Given the description of an element on the screen output the (x, y) to click on. 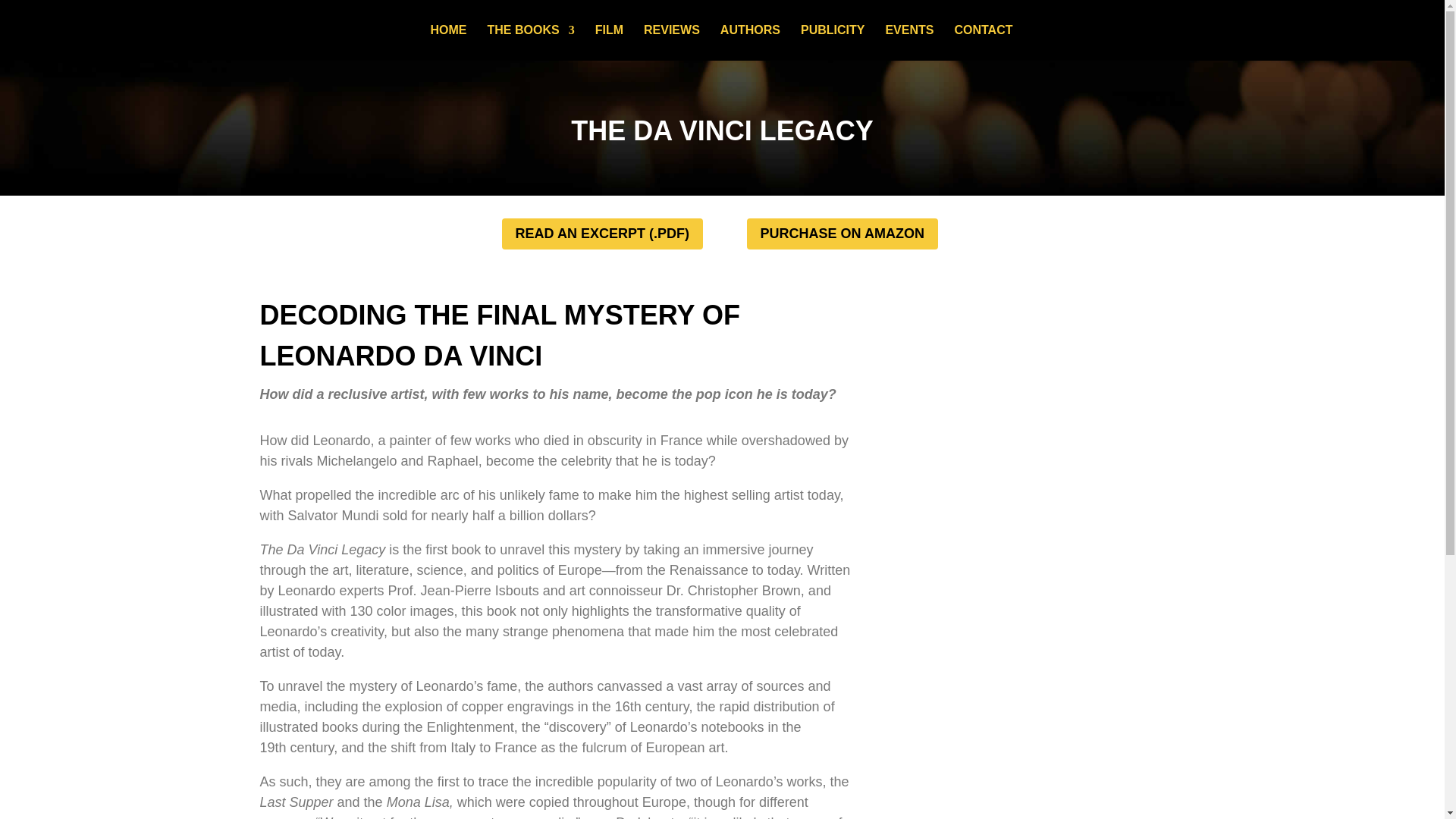
REVIEWS (671, 41)
PURCHASE ON AMAZON (841, 233)
AUTHORS (750, 41)
HOME (448, 41)
PUBLICITY (832, 41)
THE BOOKS (531, 41)
CONTACT (982, 41)
EVENTS (909, 41)
